Given the description of an element on the screen output the (x, y) to click on. 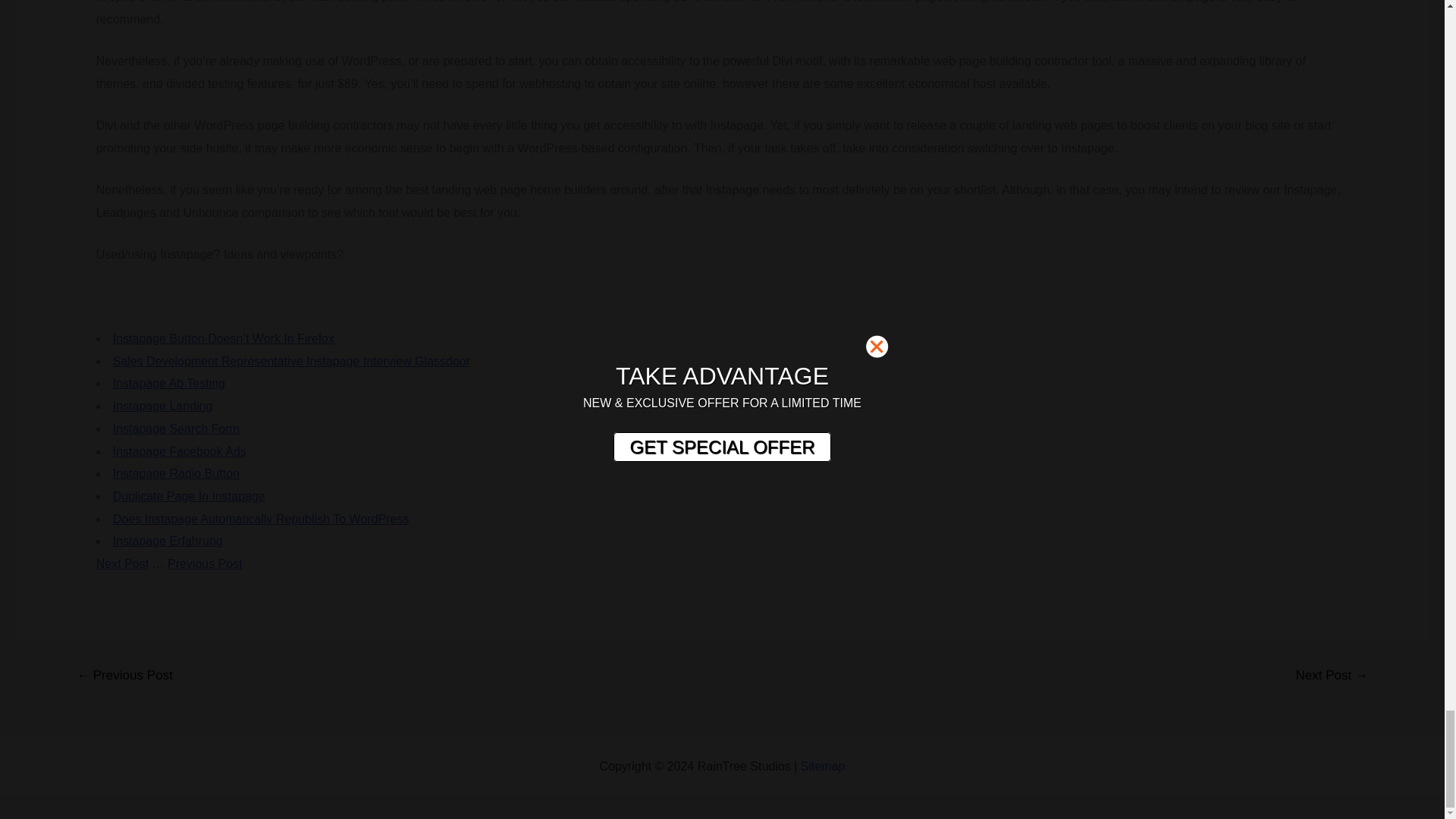
Does Instapage Automatically Republish To WordPress (261, 518)
Instapage Landing (162, 405)
Instapage Erfahrung (167, 540)
Duplicate Page In Instapage (188, 495)
Instapage Search Form (176, 428)
Instapage Facebook Ads (179, 451)
Instapage Facebook Ads (179, 451)
Previous Post (205, 563)
Sitemap (822, 766)
Next Post (122, 563)
Duplicate Page In Instapage (188, 495)
Instapage Ab Testing (169, 382)
Instapage Erfahrung (167, 540)
Does Instapage Automatically Republish To WordPress (261, 518)
